Given the description of an element on the screen output the (x, y) to click on. 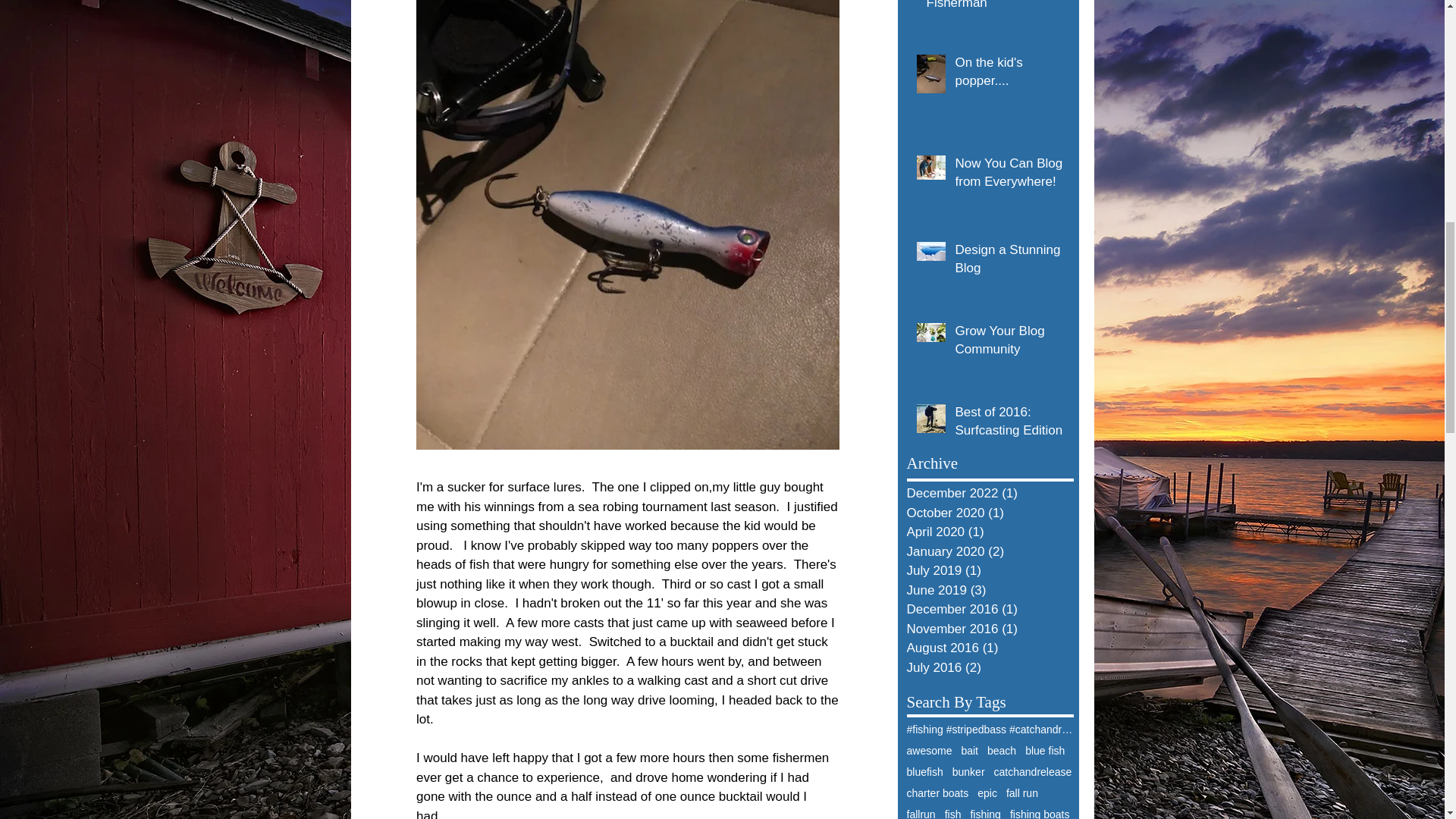
Grow Your Blog Community (1009, 343)
On the kid's popper.... (1009, 75)
Design a Stunning Blog (1009, 261)
Now You Can Blog from Everywhere! (1009, 175)
awesome (929, 750)
The Accidental Fisherman (995, 9)
Best of 2016: Surfcasting Edition (1009, 424)
bait (969, 750)
